Given the description of an element on the screen output the (x, y) to click on. 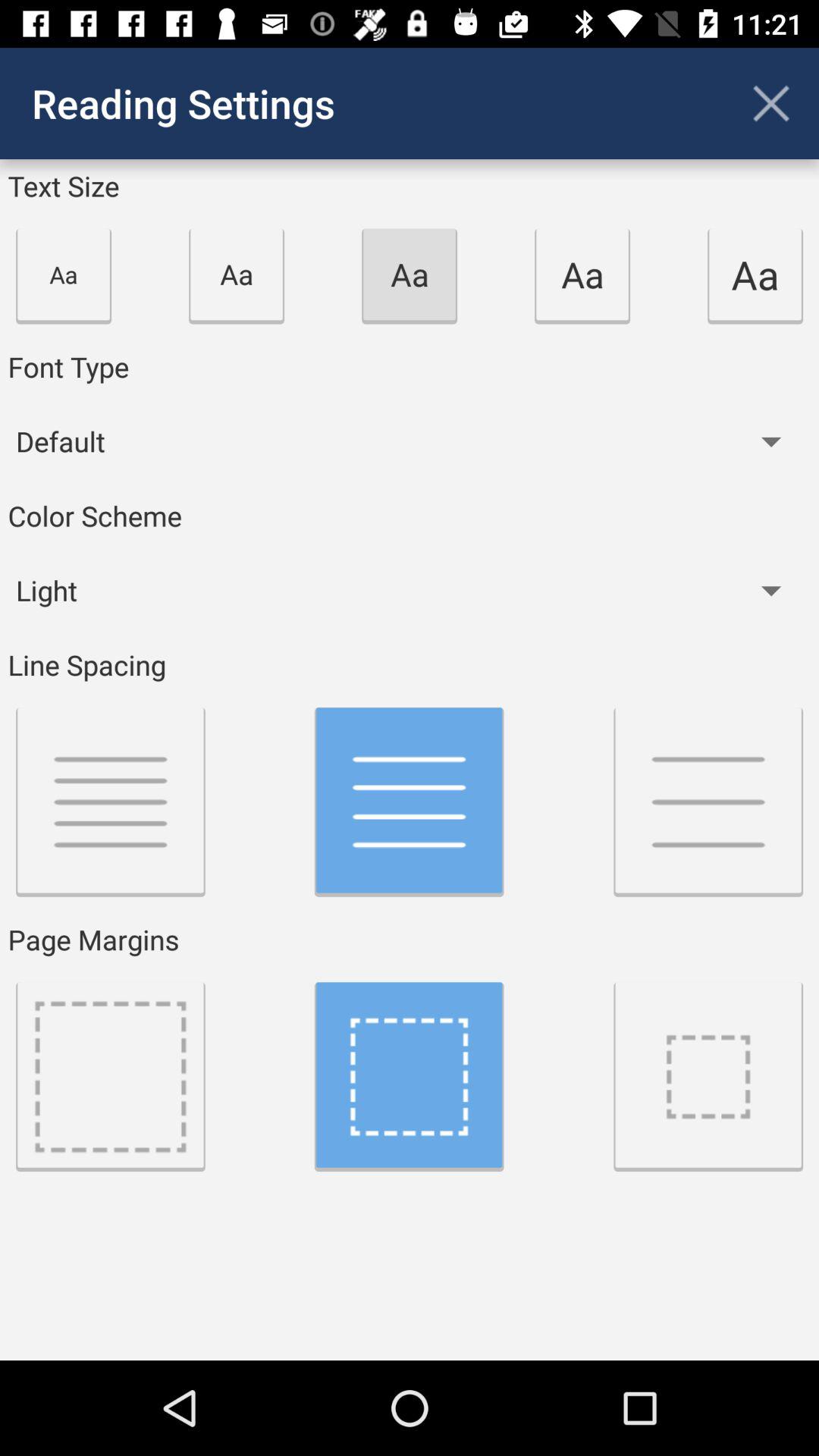
tap the app to the right of the reading settings app (771, 103)
